Given the description of an element on the screen output the (x, y) to click on. 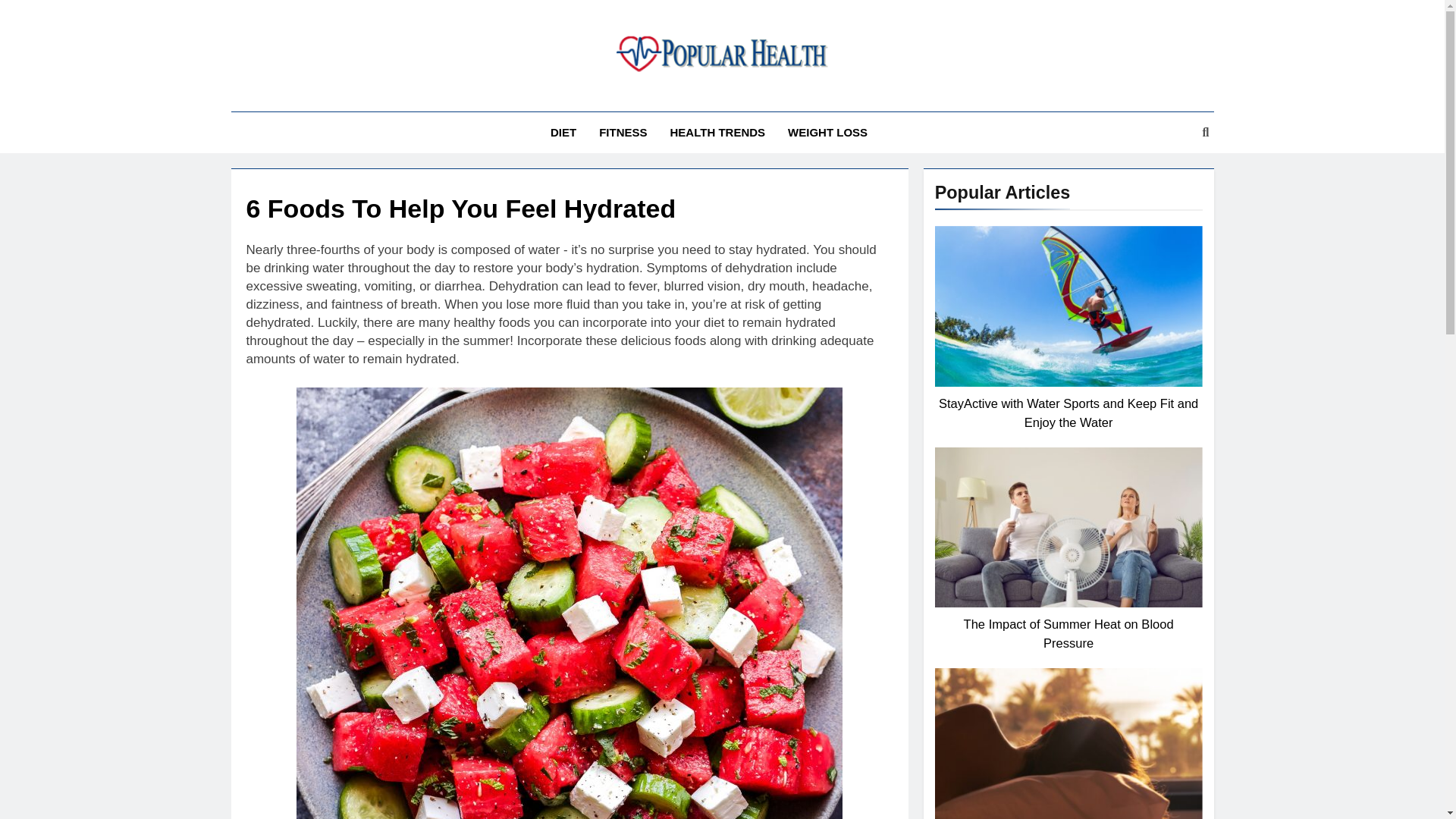
DIET (563, 132)
HEALTH TRENDS (718, 132)
FITNESS (623, 132)
WEIGHT LOSS (827, 132)
Popular Health (592, 97)
